Given the description of an element on the screen output the (x, y) to click on. 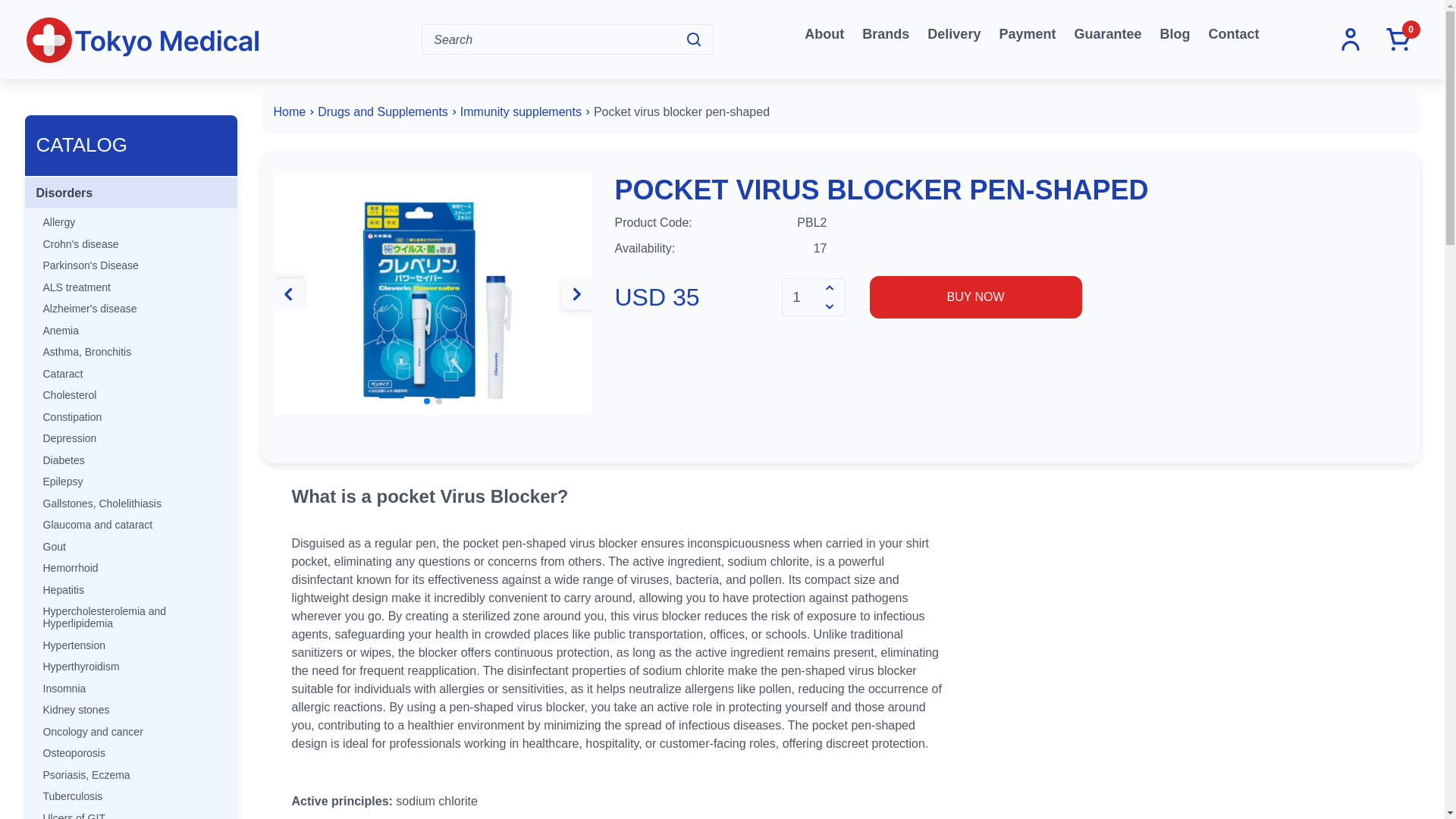
1 (803, 297)
Japan Health Center (142, 41)
Pocket virus blocker pen-shaped (432, 293)
